Given the description of an element on the screen output the (x, y) to click on. 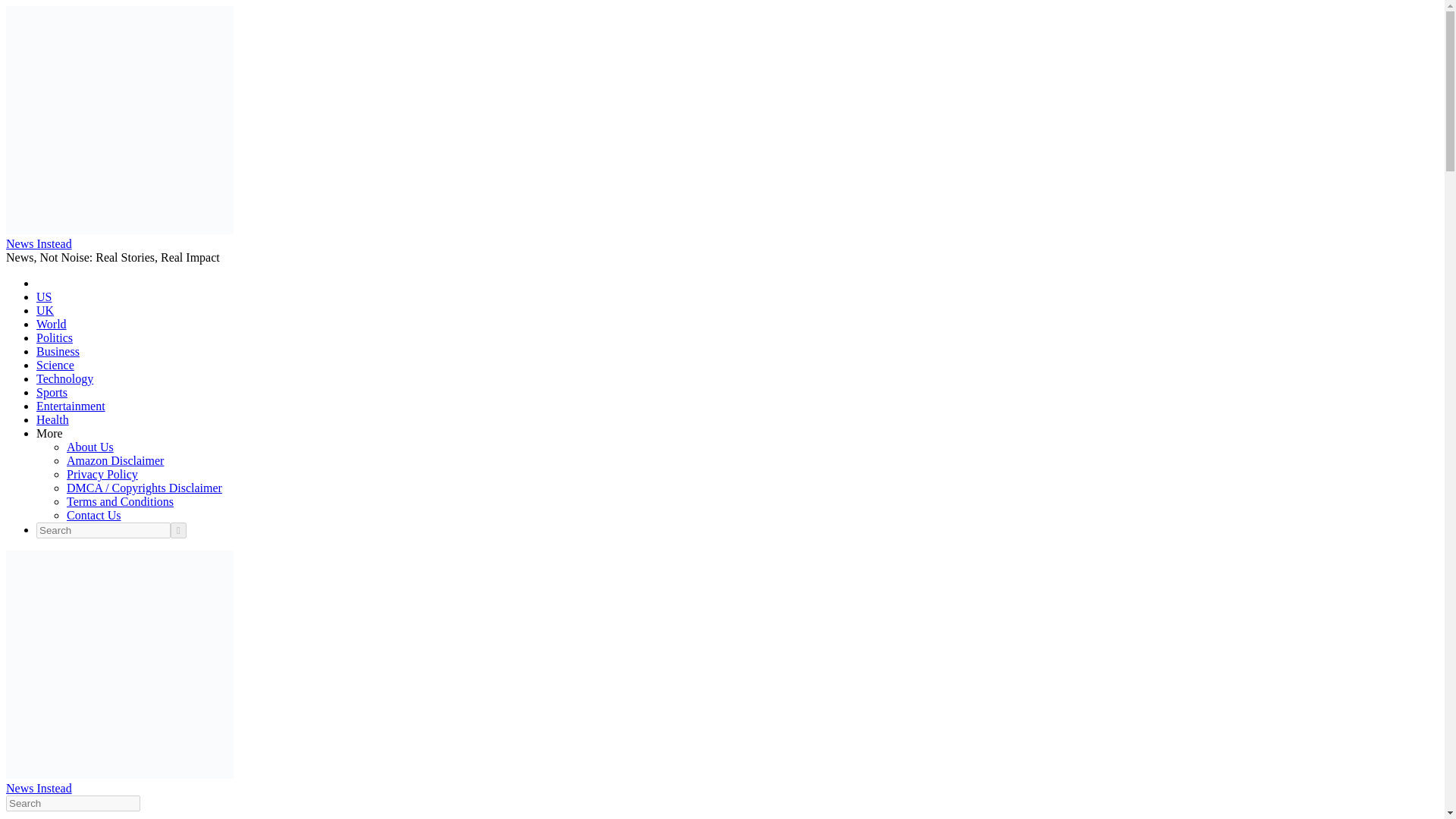
Sports (51, 391)
Science (55, 364)
News Instead (38, 788)
US (43, 296)
Technology (64, 378)
Amazon Disclaimer (114, 460)
UK (44, 309)
About Us (89, 446)
More (49, 432)
World (51, 323)
Health (52, 419)
Politics (54, 337)
Entertainment (70, 405)
Business (58, 350)
News Instead (38, 243)
